Given the description of an element on the screen output the (x, y) to click on. 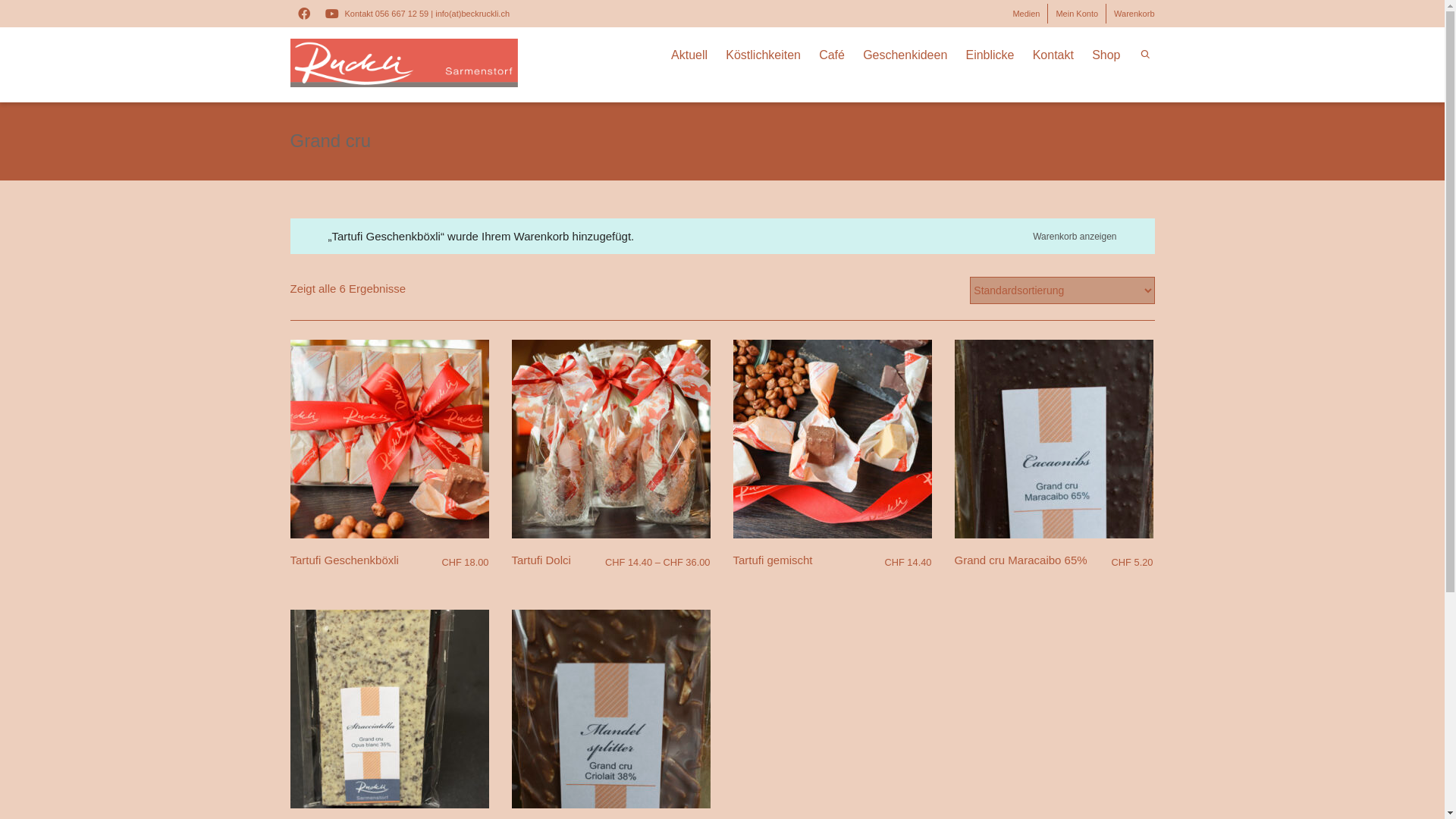
Geschenkideen Element type: text (904, 55)
info(at)beckruckli.ch Element type: text (472, 13)
Warenkorb anzeigen Element type: text (1072, 235)
Aktuell Element type: text (689, 55)
Kontakt Element type: text (1052, 55)
Medien Element type: text (1025, 13)
Warenkorb Element type: text (1133, 13)
Tartufi Dolci Element type: text (540, 559)
Mein Konto Element type: text (1076, 13)
Grand cru Maracaibo 65% Element type: text (1019, 559)
Shop Element type: text (1106, 55)
Einblicke Element type: text (989, 55)
Tartufi gemischt Element type: text (772, 559)
